Given the description of an element on the screen output the (x, y) to click on. 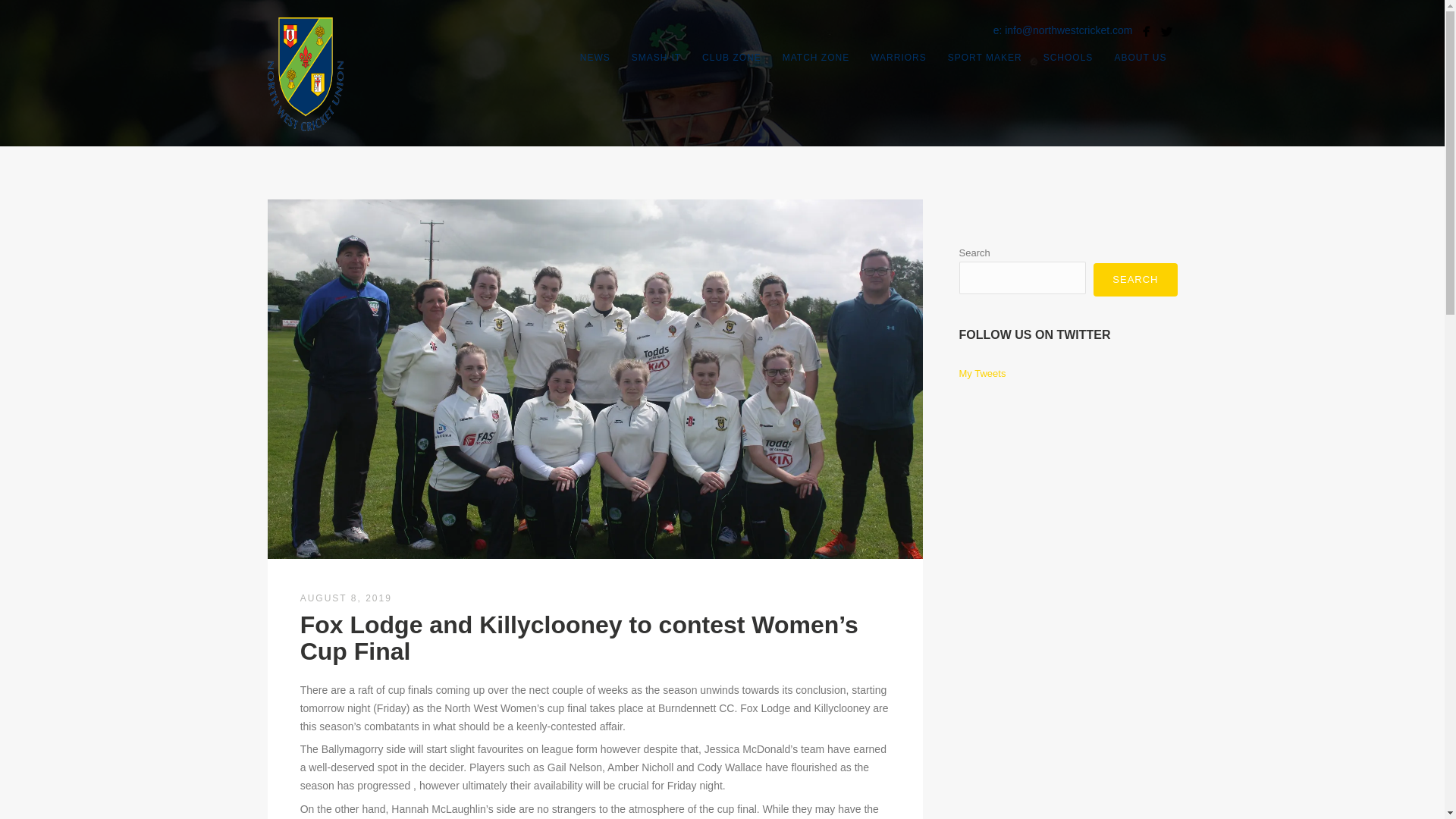
SMASH-IT (656, 57)
NEWS (595, 57)
CLUB ZONE (731, 57)
Facebook (1144, 31)
Twitter (1166, 31)
